Given the description of an element on the screen output the (x, y) to click on. 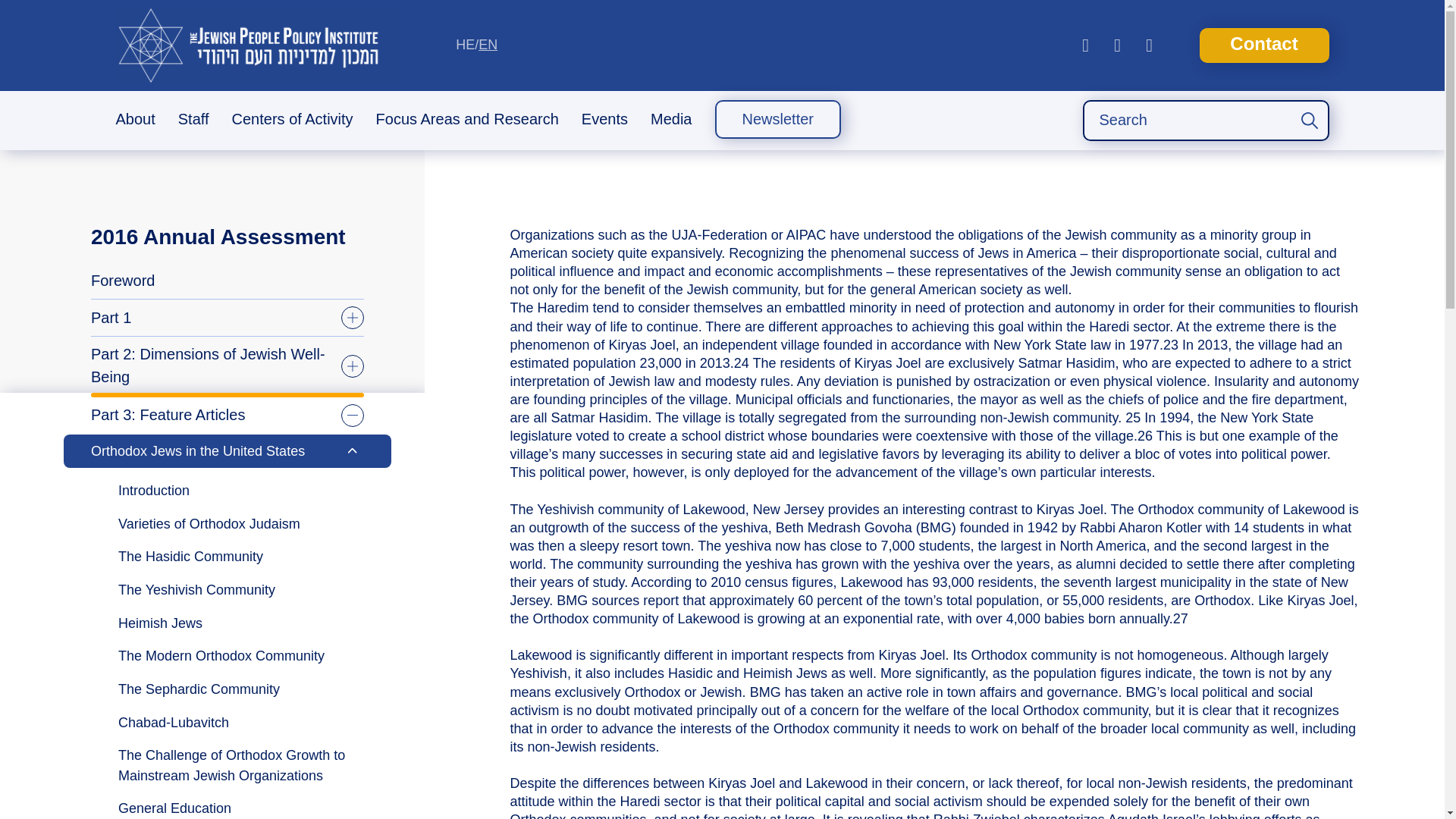
Former Fellows (192, 192)
About (135, 119)
Staff (193, 119)
Centers of Activity (292, 119)
HE (464, 44)
Focus Areas (466, 200)
The Center for Jewish-Israeli Identity (292, 168)
About JPPI (135, 159)
JPPI (256, 45)
EN (488, 44)
youtube (1085, 44)
twitter (1149, 44)
Focus Areas and Research (467, 119)
Contact (1264, 45)
Content Types (466, 161)
